Given the description of an element on the screen output the (x, y) to click on. 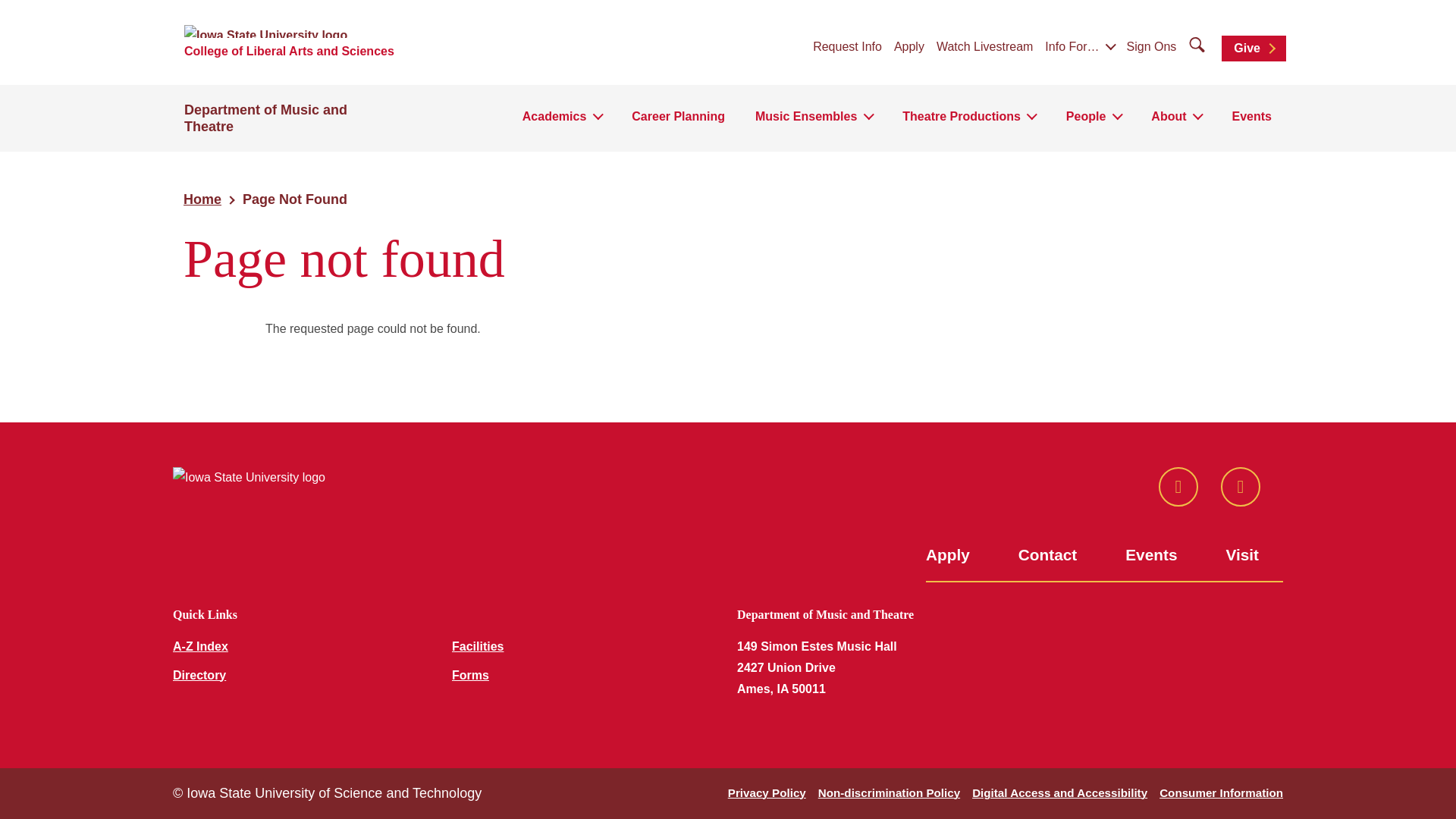
Career Planning (678, 121)
Apply (908, 48)
College of Liberal Arts and Sciences (289, 51)
Request Info (847, 48)
Search (14, 14)
Give (1253, 48)
Sign Ons (1151, 48)
Watch Livestream (984, 48)
Department of Music and Theatre (265, 117)
